Given the description of an element on the screen output the (x, y) to click on. 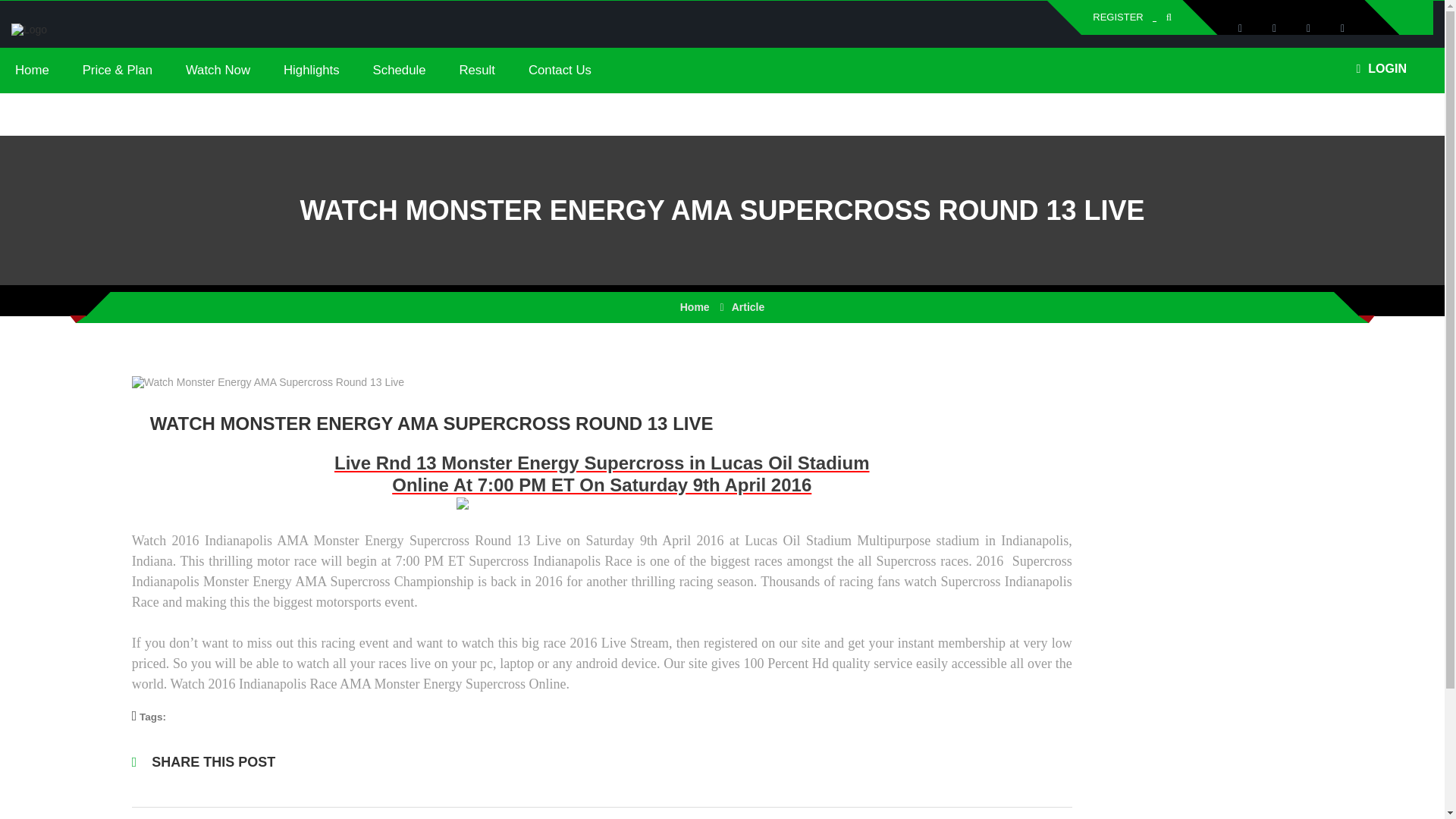
Live Rnd 13 Monster Energy Supercross in Lucas Oil Stadium (601, 462)
Home (694, 306)
REGISTER (1117, 17)
Home (32, 70)
LOGIN (1380, 69)
Result (477, 70)
Online At 7:00 PM ET On Saturday 9th April 2016 (600, 485)
Watch Now (217, 70)
Online Supercross (28, 28)
Schedule (399, 70)
Contact Us (560, 70)
Highlights (311, 70)
